Given the description of an element on the screen output the (x, y) to click on. 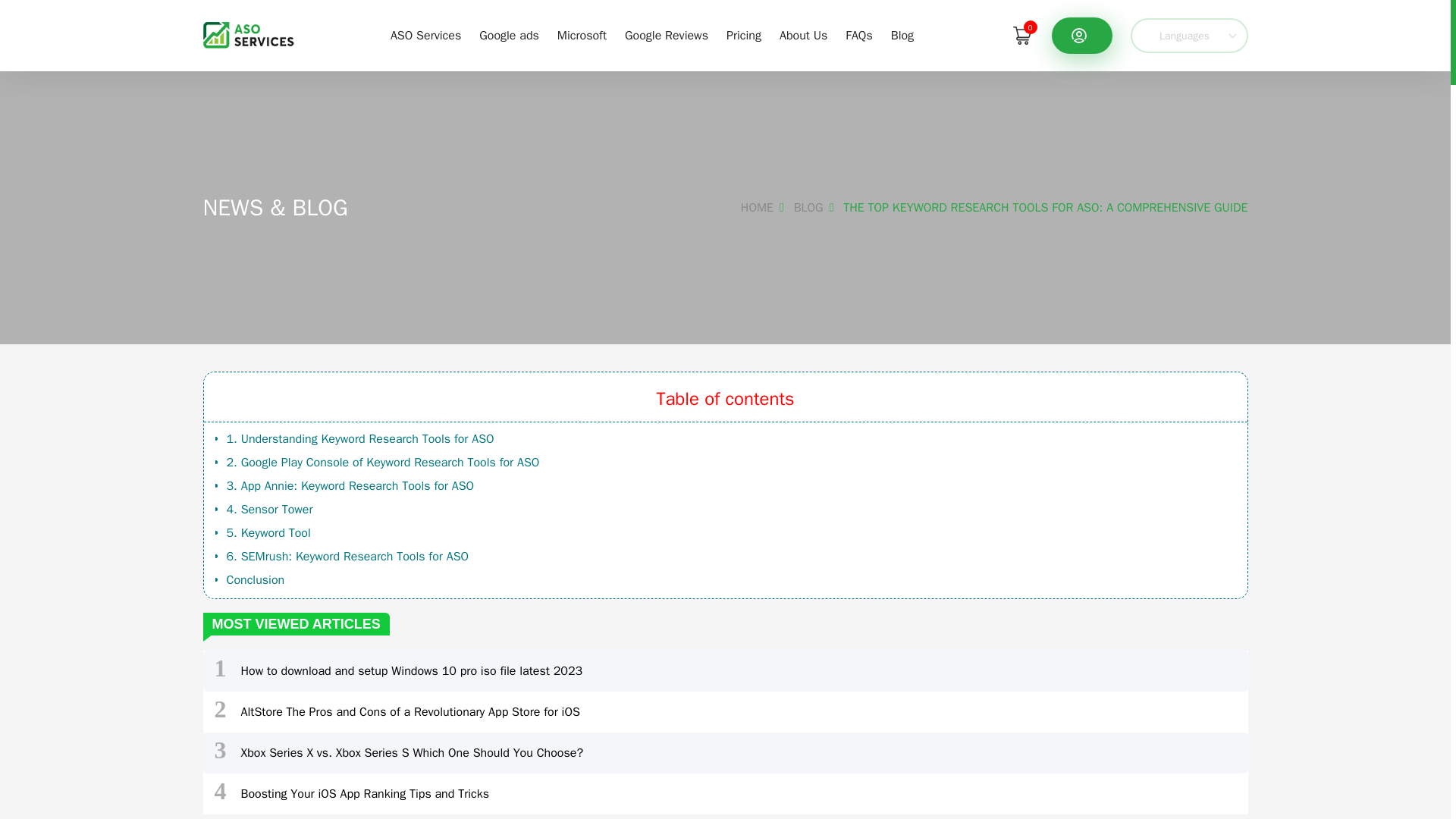
BLOG (816, 207)
Home (248, 35)
Conclusion (254, 580)
5. Keyword Tool (267, 532)
2. Google Play Console of Keyword Research Tools for ASO (381, 462)
ASO Services (425, 35)
HOME (765, 207)
3. App Annie: Keyword Research Tools for ASO (349, 485)
0 (1021, 35)
1. Understanding Keyword Research Tools for ASO (359, 438)
Google Reviews (665, 35)
ASO Services (425, 35)
4. Sensor Tower (269, 509)
6. SEMrush: Keyword Research Tools for ASO (346, 556)
Google Reviews (665, 35)
